Given the description of an element on the screen output the (x, y) to click on. 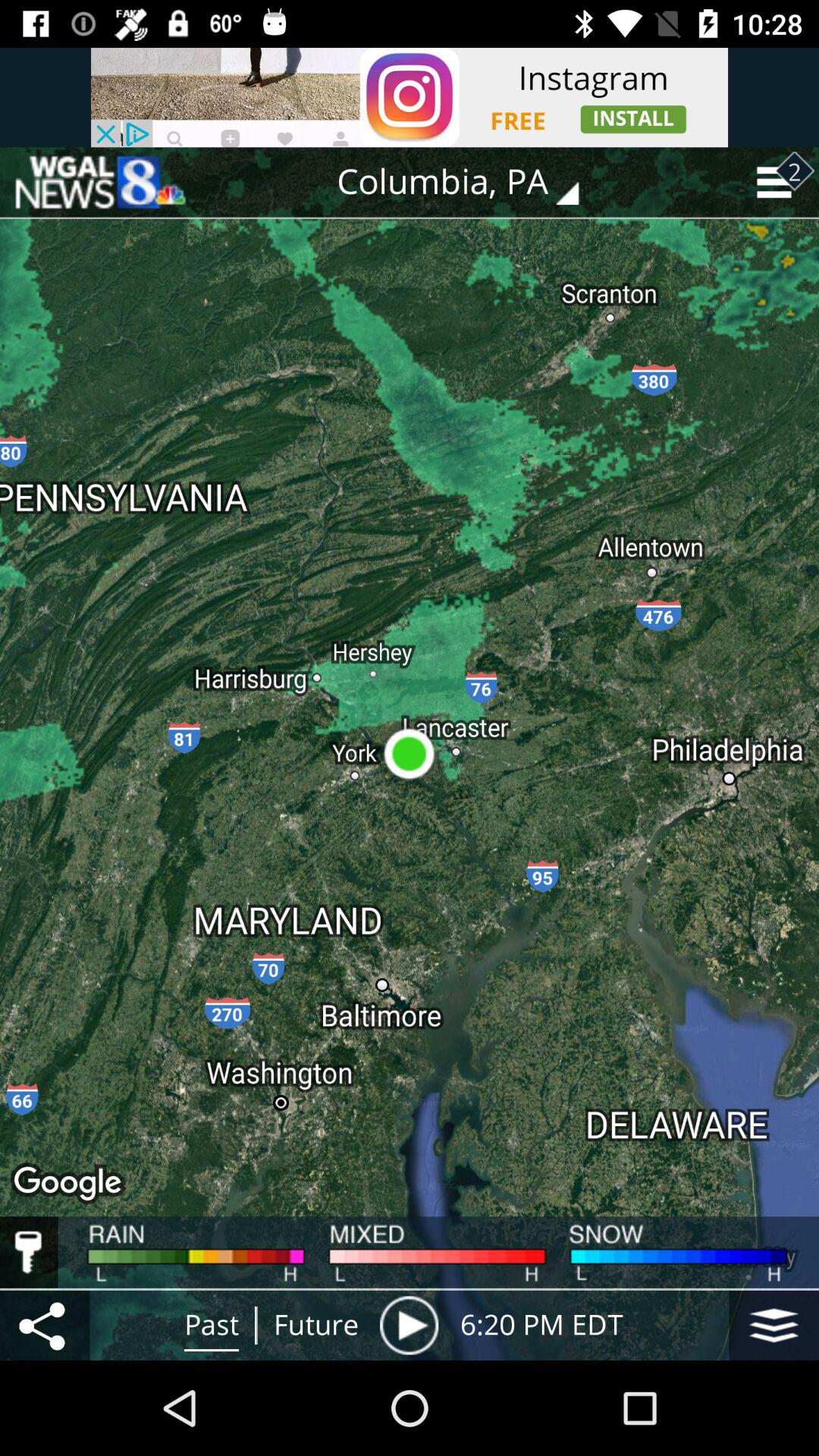
see more (774, 1325)
